Given the description of an element on the screen output the (x, y) to click on. 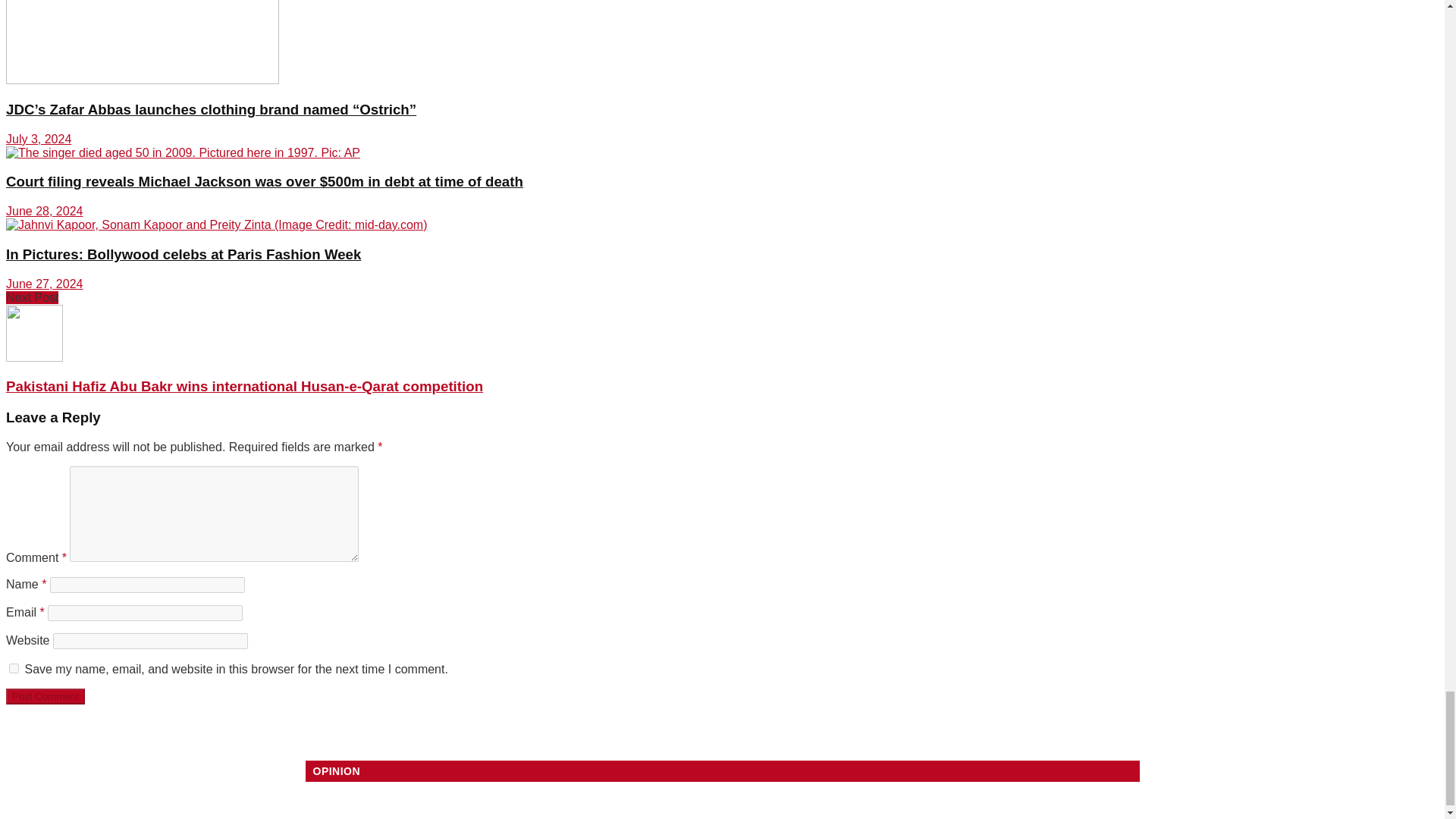
yes (13, 668)
Post Comment (44, 696)
